Given the description of an element on the screen output the (x, y) to click on. 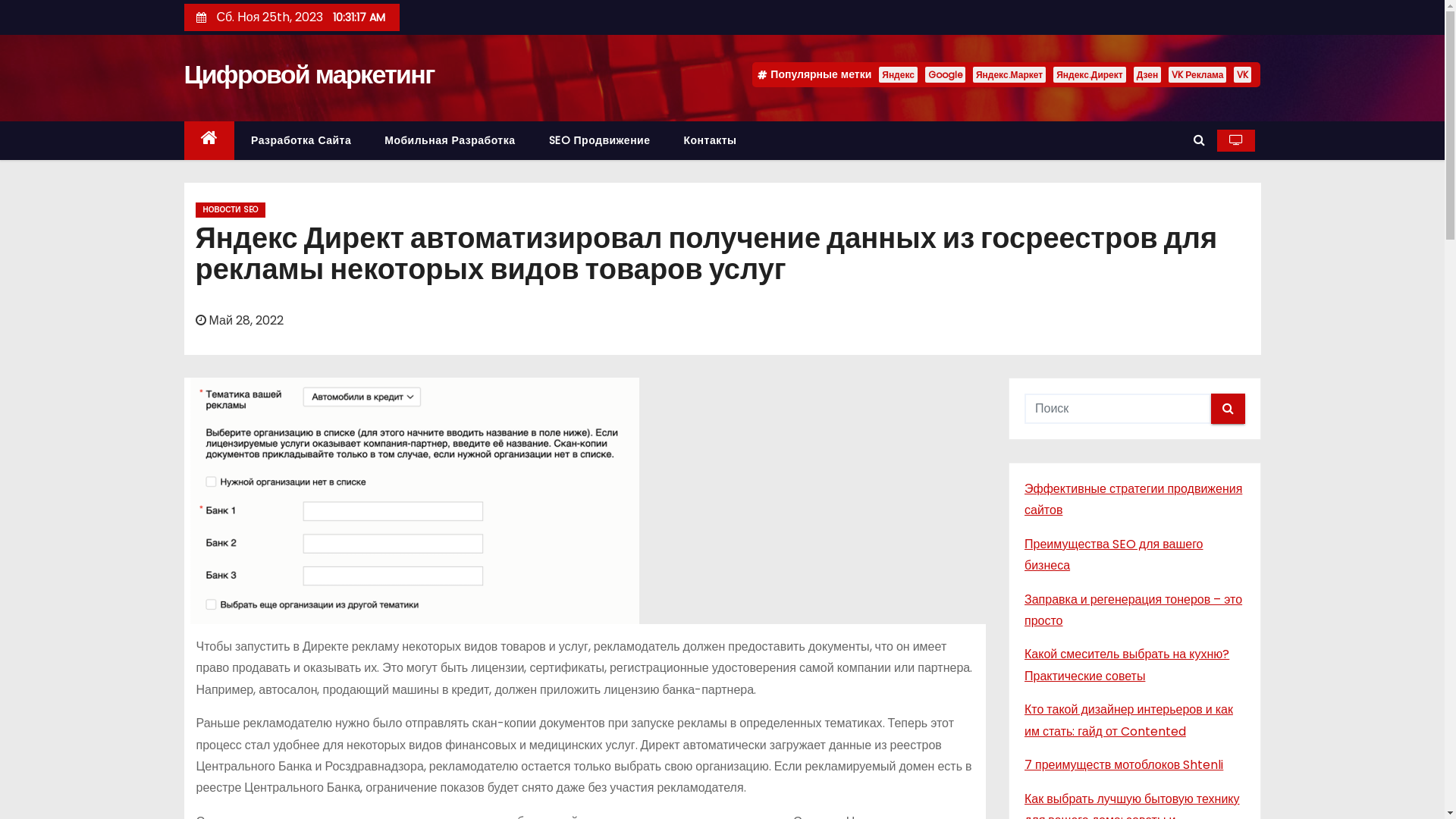
VK Element type: text (1242, 74)
Home Element type: hover (208, 140)
Google Element type: text (945, 74)
